Given the description of an element on the screen output the (x, y) to click on. 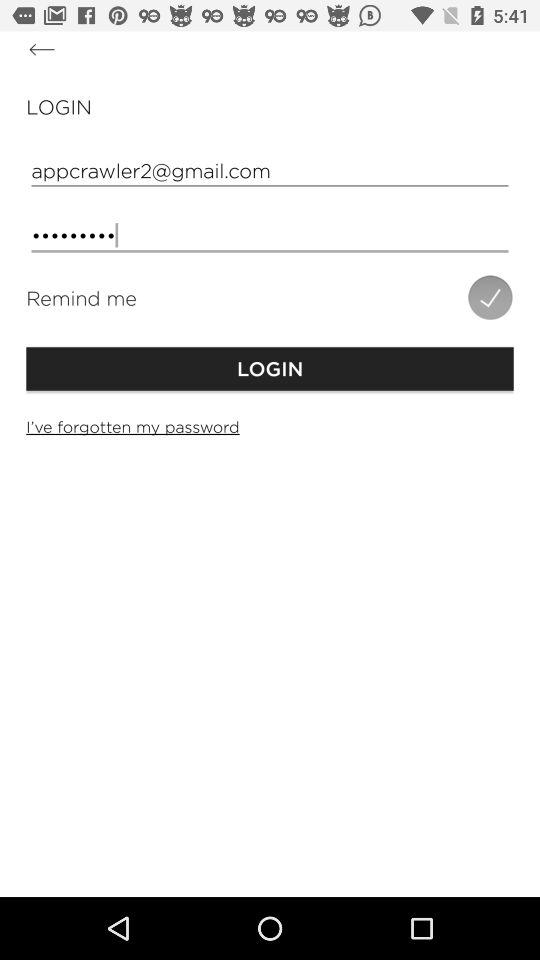
choose the icon below the crowd3116 item (490, 297)
